Given the description of an element on the screen output the (x, y) to click on. 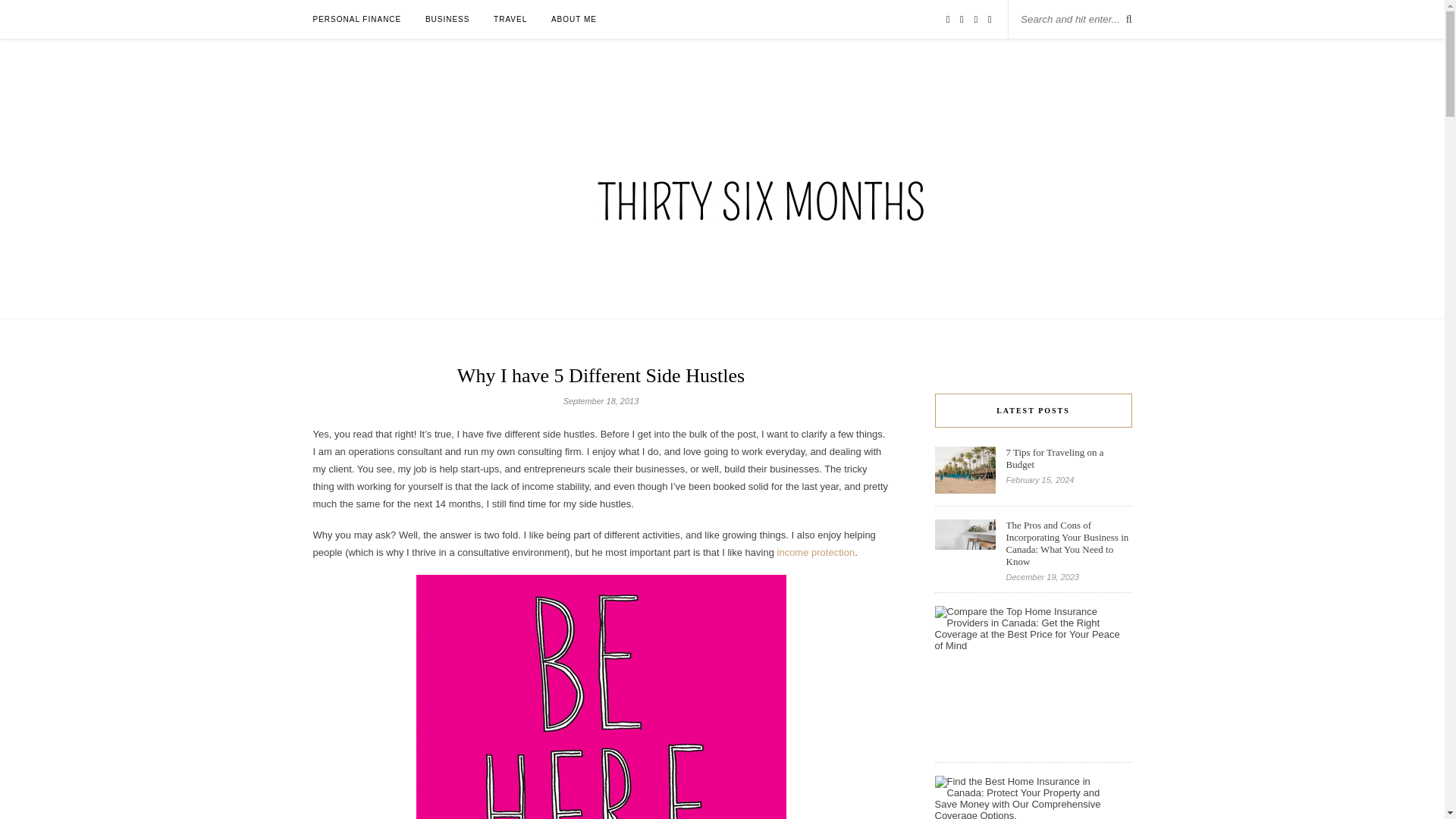
income protection (816, 552)
BUSINESS (447, 19)
ABOUT ME (573, 19)
PERSONAL FINANCE (357, 19)
